Given the description of an element on the screen output the (x, y) to click on. 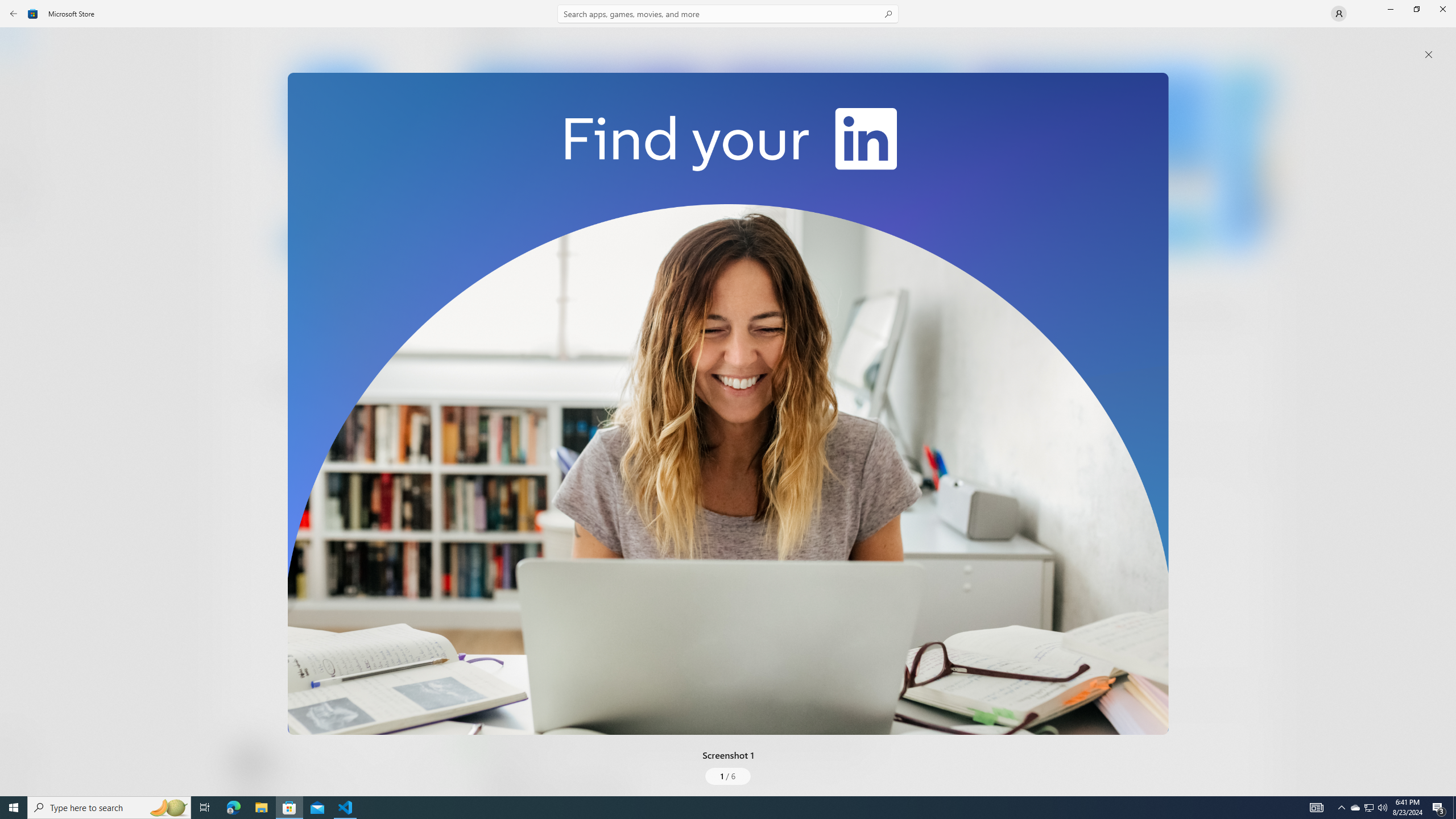
Screenshot 3 (1089, 158)
